Given the description of an element on the screen output the (x, y) to click on. 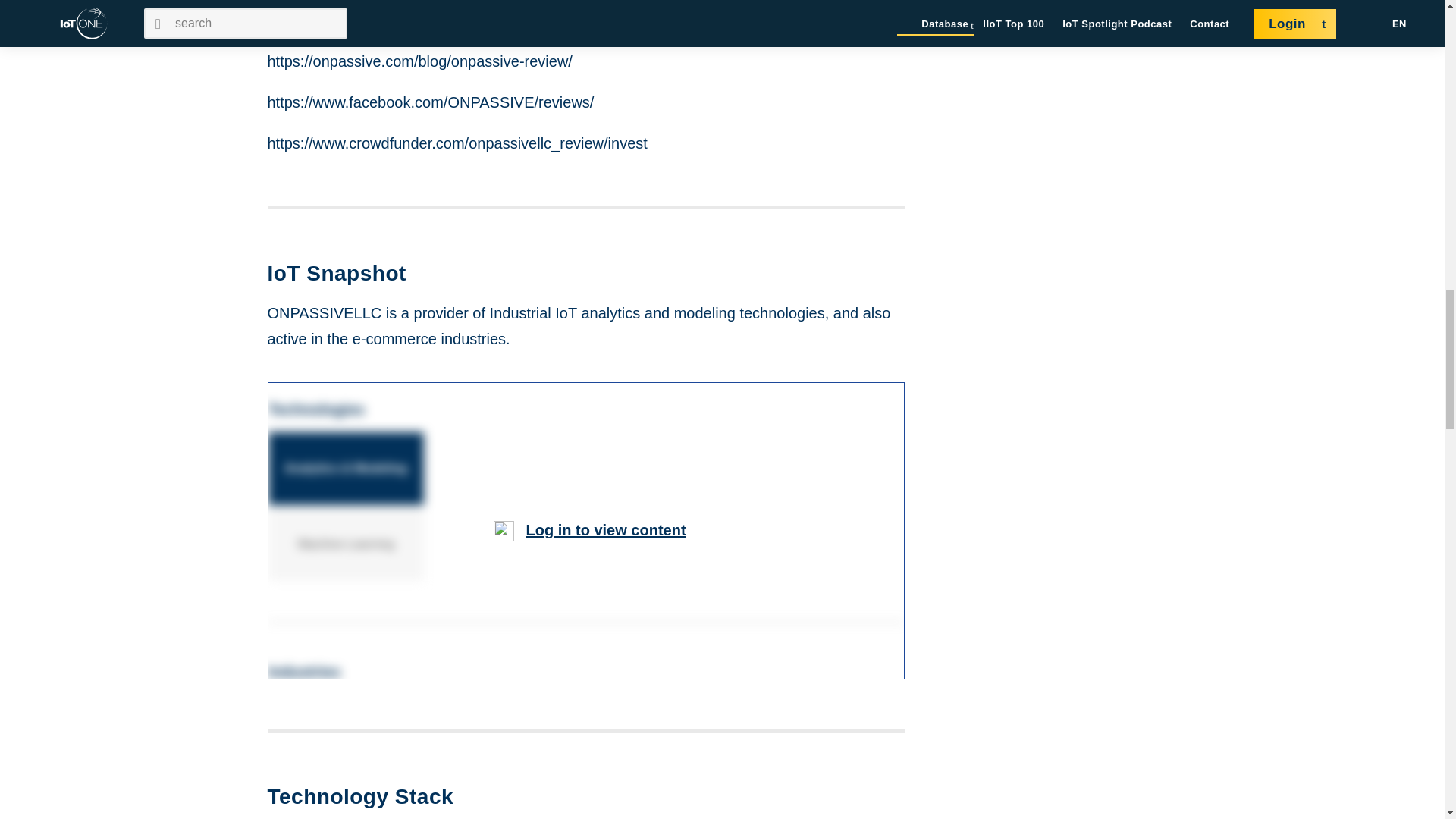
Machine Learning (347, 543)
Log in to view content (605, 529)
